Given the description of an element on the screen output the (x, y) to click on. 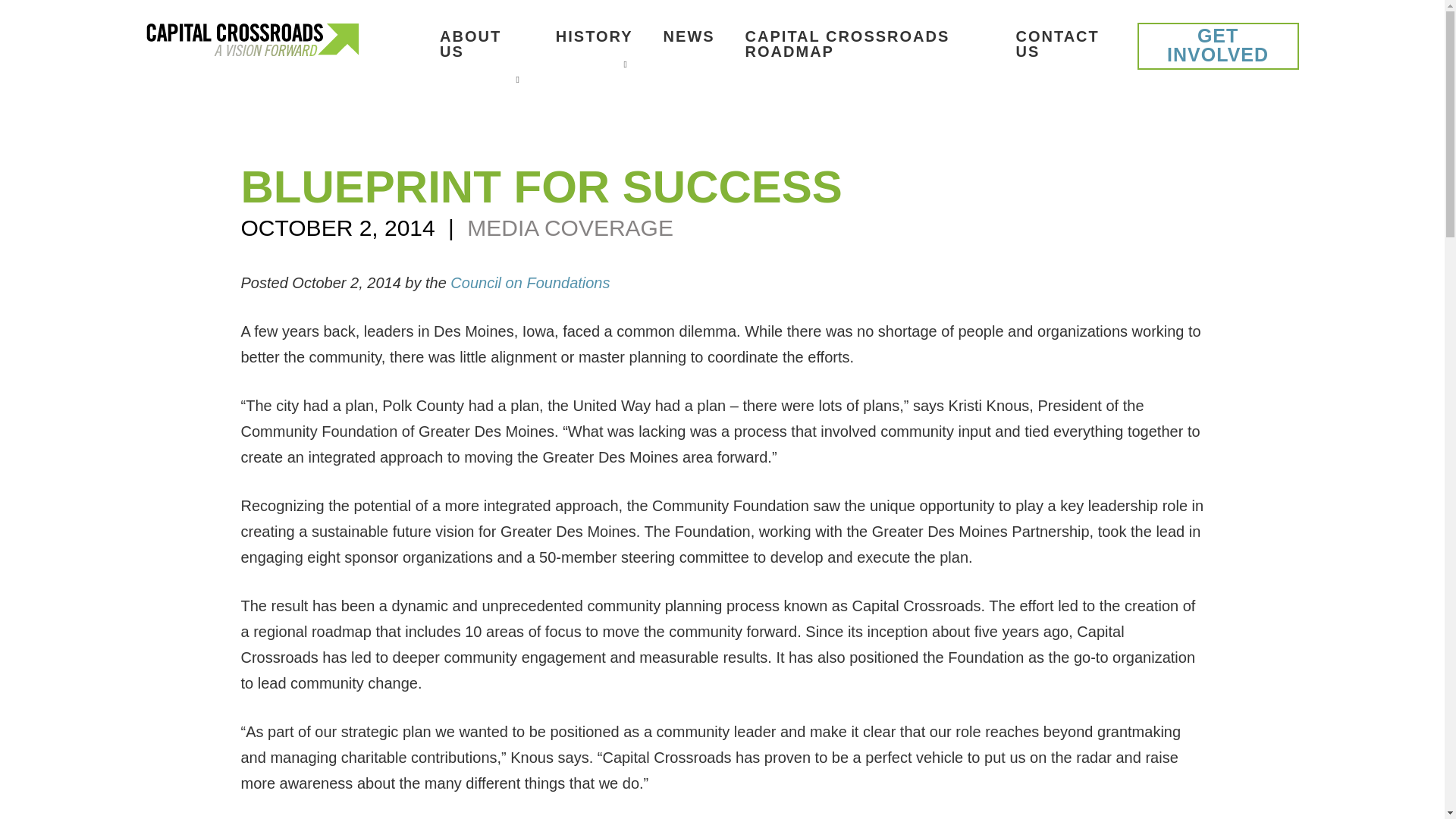
Contact Us (1061, 43)
NEWS (688, 35)
HISTORY (594, 35)
About Us (482, 43)
ABOUT US (482, 43)
GET INVOLVED (1217, 45)
News (688, 35)
Council on Foundations (529, 282)
CONTACT US (1061, 43)
History (594, 35)
